Given the description of an element on the screen output the (x, y) to click on. 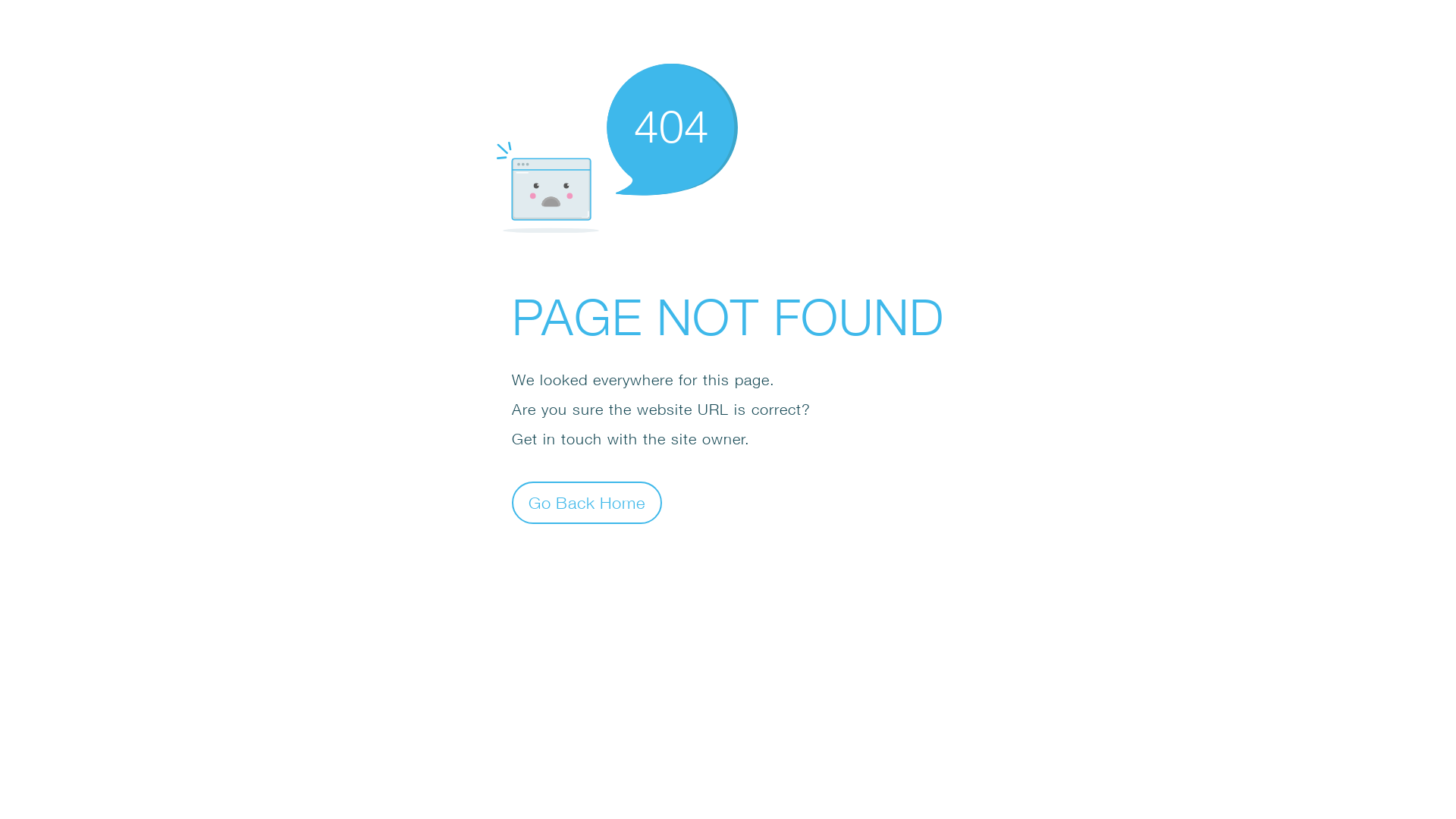
Go Back Home Element type: text (586, 502)
